Given the description of an element on the screen output the (x, y) to click on. 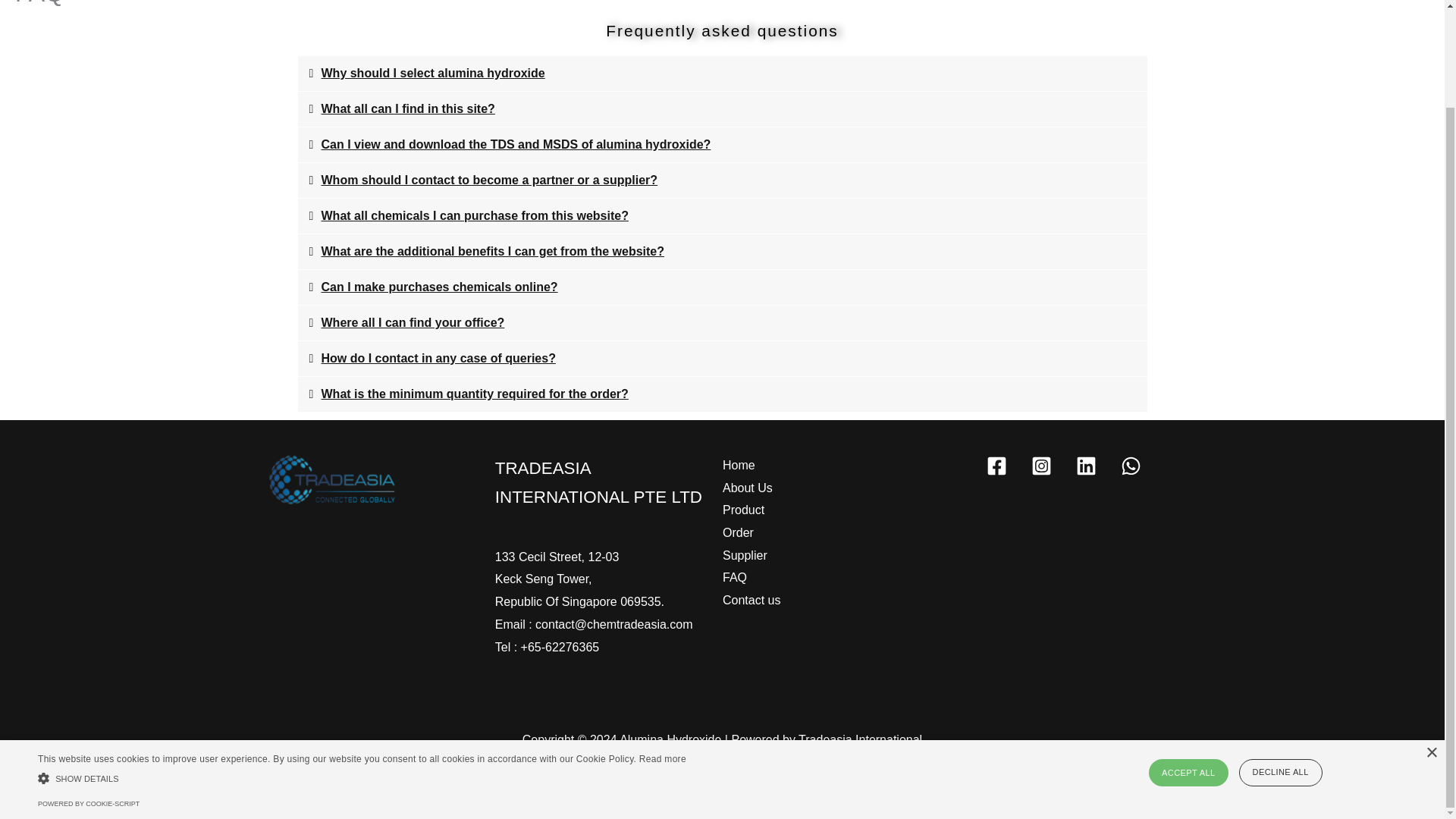
What are the additional benefits I can get from the website? (493, 250)
What all can I find in this site? (408, 108)
Home (738, 465)
What all chemicals I can purchase from this website? (474, 215)
What is the minimum quantity required for the order? (474, 393)
Contact us (751, 599)
Whom should I contact to become a partner or a supplier? (489, 179)
How do I contact in any case of queries? (438, 358)
Why should I select alumina hydroxide (432, 72)
Order (738, 532)
FAQ (734, 577)
Product (743, 509)
Where all I can find your office? (413, 322)
About Us (747, 487)
